Given the description of an element on the screen output the (x, y) to click on. 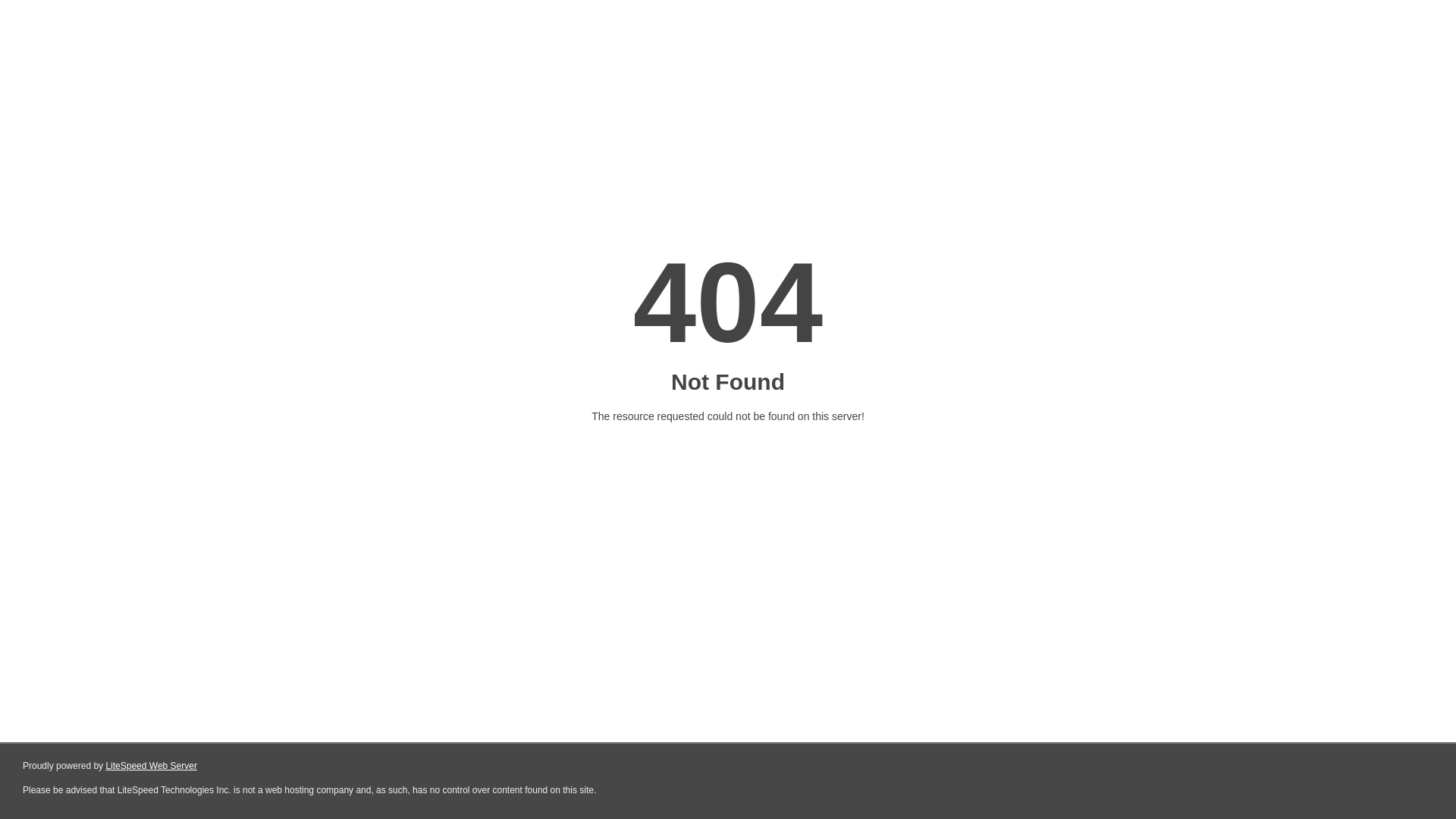
LiteSpeed Web Server Element type: text (151, 765)
